Given the description of an element on the screen output the (x, y) to click on. 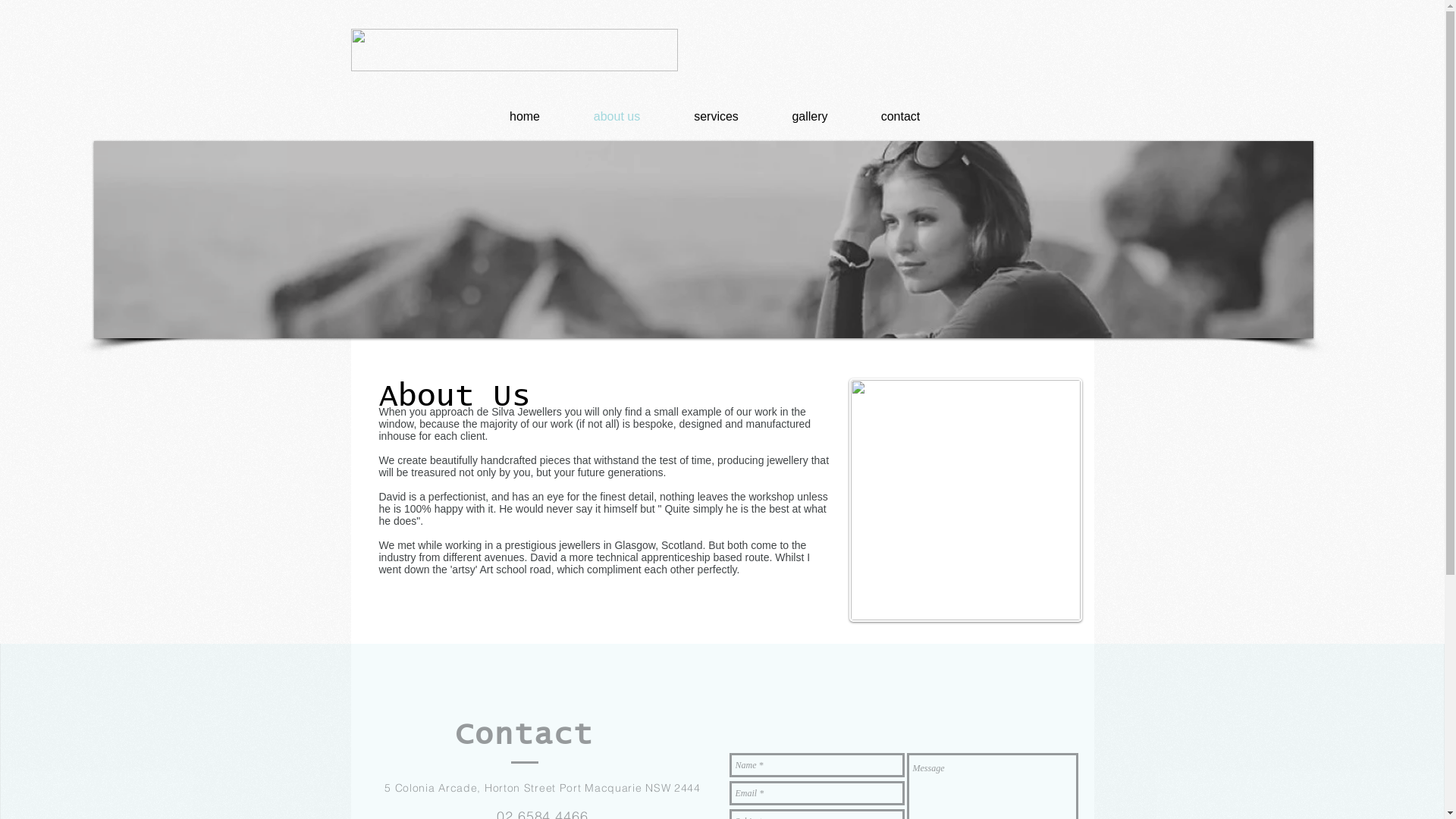
gallery Element type: text (809, 116)
Website about us pic.jpg Element type: hover (965, 499)
services Element type: text (716, 116)
about us Element type: text (617, 116)
home Element type: text (524, 116)
contact Element type: text (899, 116)
